Given the description of an element on the screen output the (x, y) to click on. 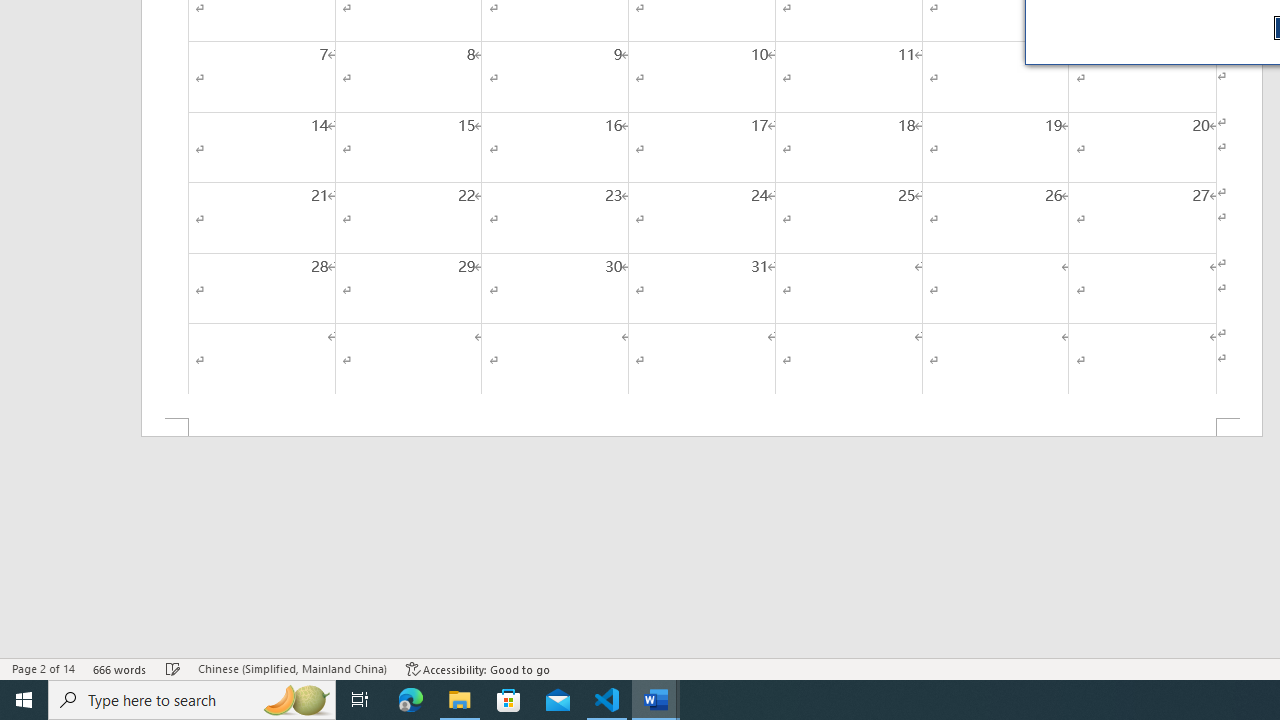
Microsoft Store (509, 699)
Page Number Page 2 of 14 (43, 668)
Language Chinese (Simplified, Mainland China) (292, 668)
Task View (359, 699)
Footer -Section 1- (701, 427)
Word - 2 running windows (656, 699)
Spelling and Grammar Check Checking (173, 668)
Microsoft Edge (411, 699)
Word Count 666 words (119, 668)
File Explorer - 1 running window (460, 699)
Visual Studio Code - 1 running window (607, 699)
Search highlights icon opens search home window (295, 699)
Start (24, 699)
